Given the description of an element on the screen output the (x, y) to click on. 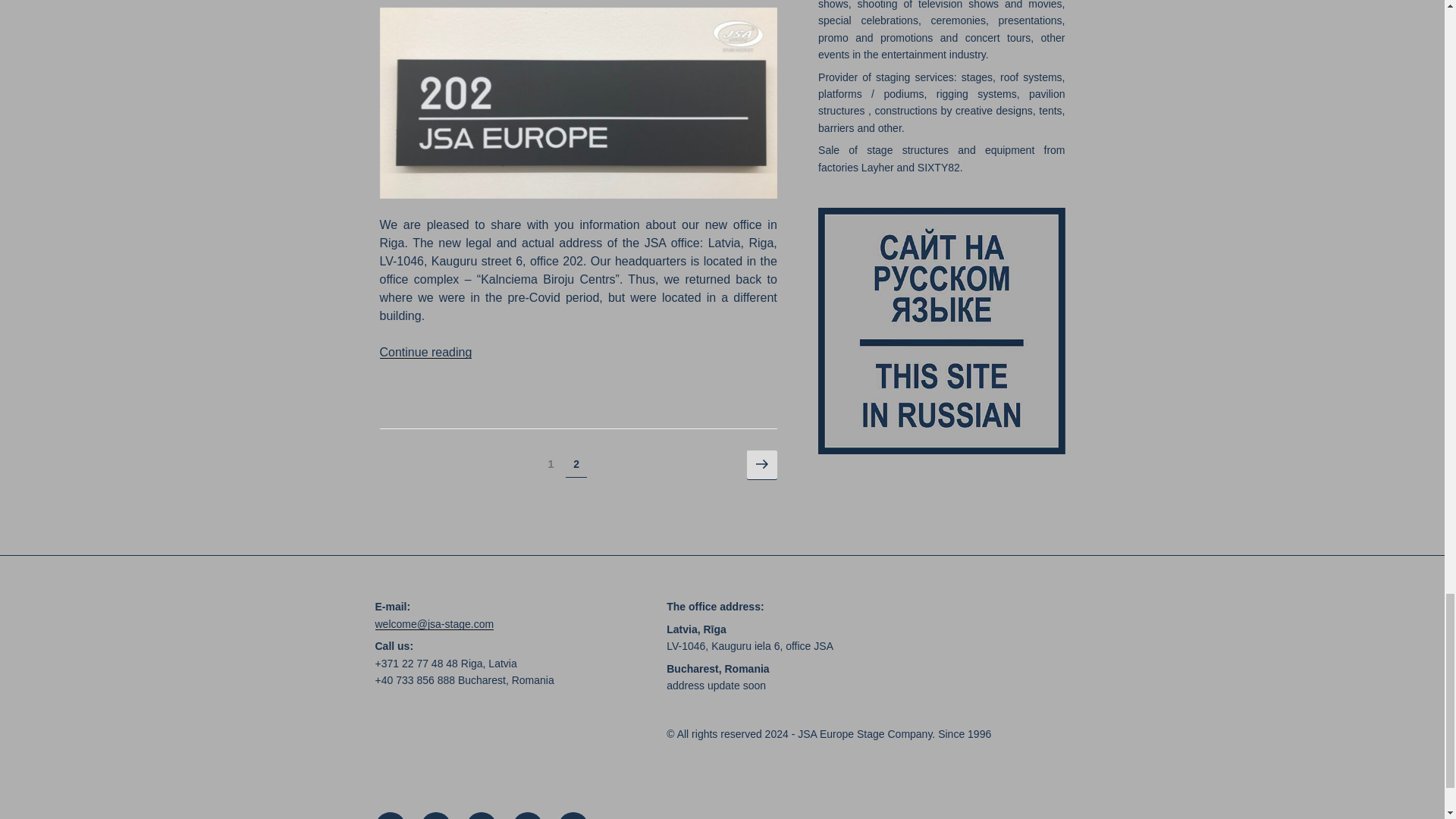
Next page (761, 465)
